Given the description of an element on the screen output the (x, y) to click on. 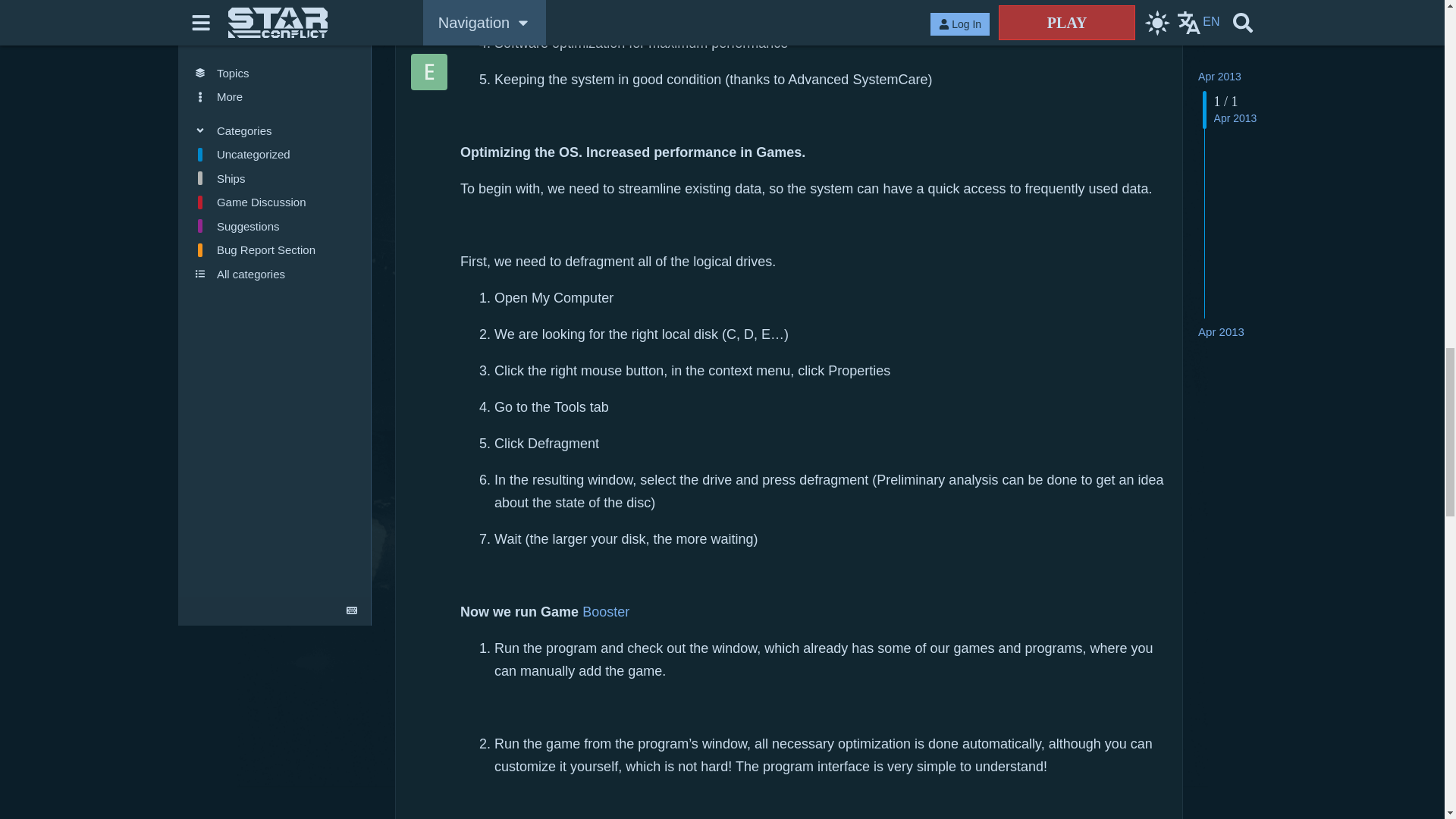
Booster (605, 611)
